Given the description of an element on the screen output the (x, y) to click on. 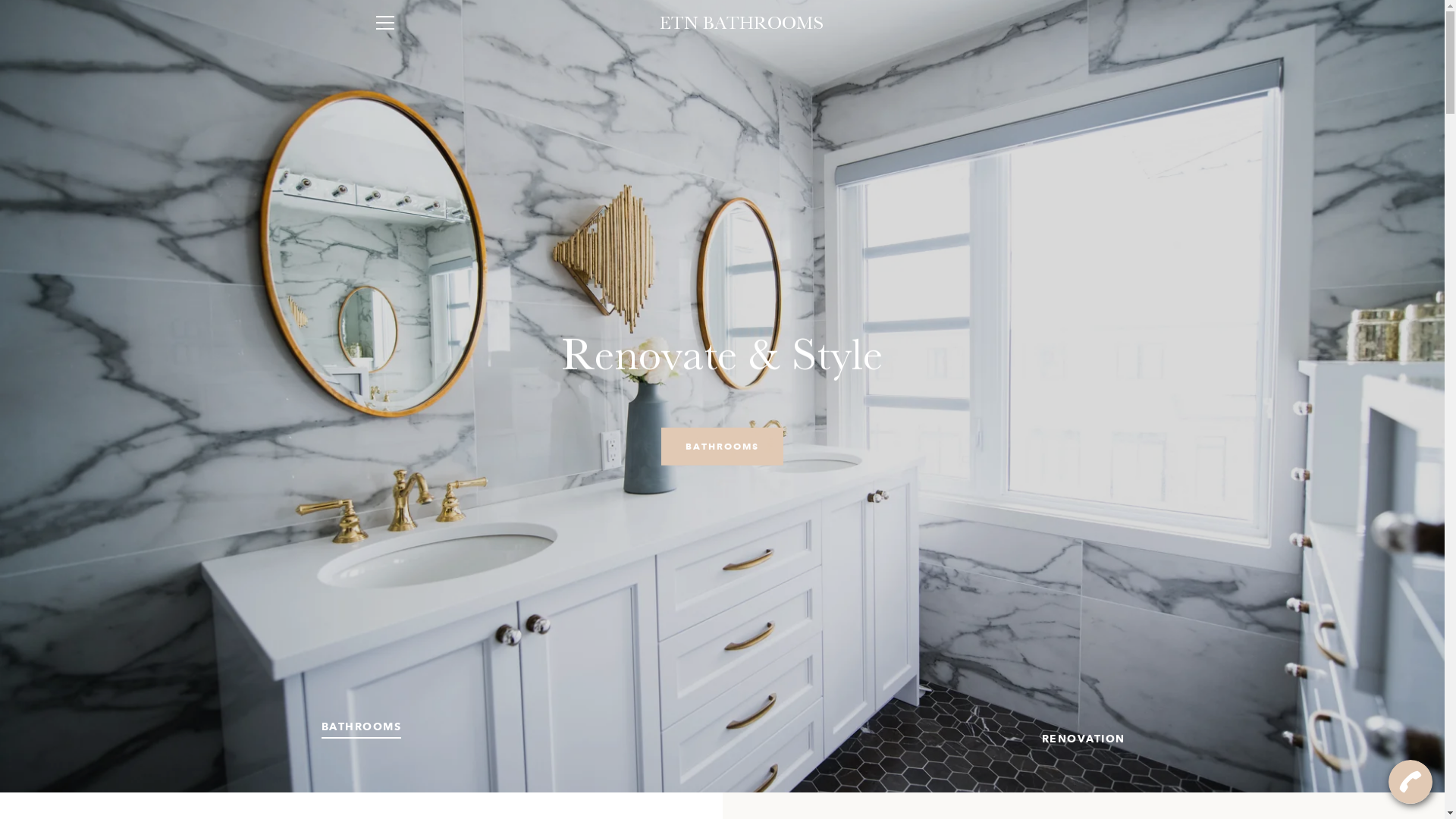
SLIDE 2
RENOVATION Element type: text (1083, 738)
BATHROOMS Element type: text (722, 445)
ETN BATHROOMS Element type: text (741, 23)
MENU Element type: text (384, 22)
SLIDE 1
BATHROOMS Element type: text (361, 726)
Skip to content Element type: text (0, 0)
